Given the description of an element on the screen output the (x, y) to click on. 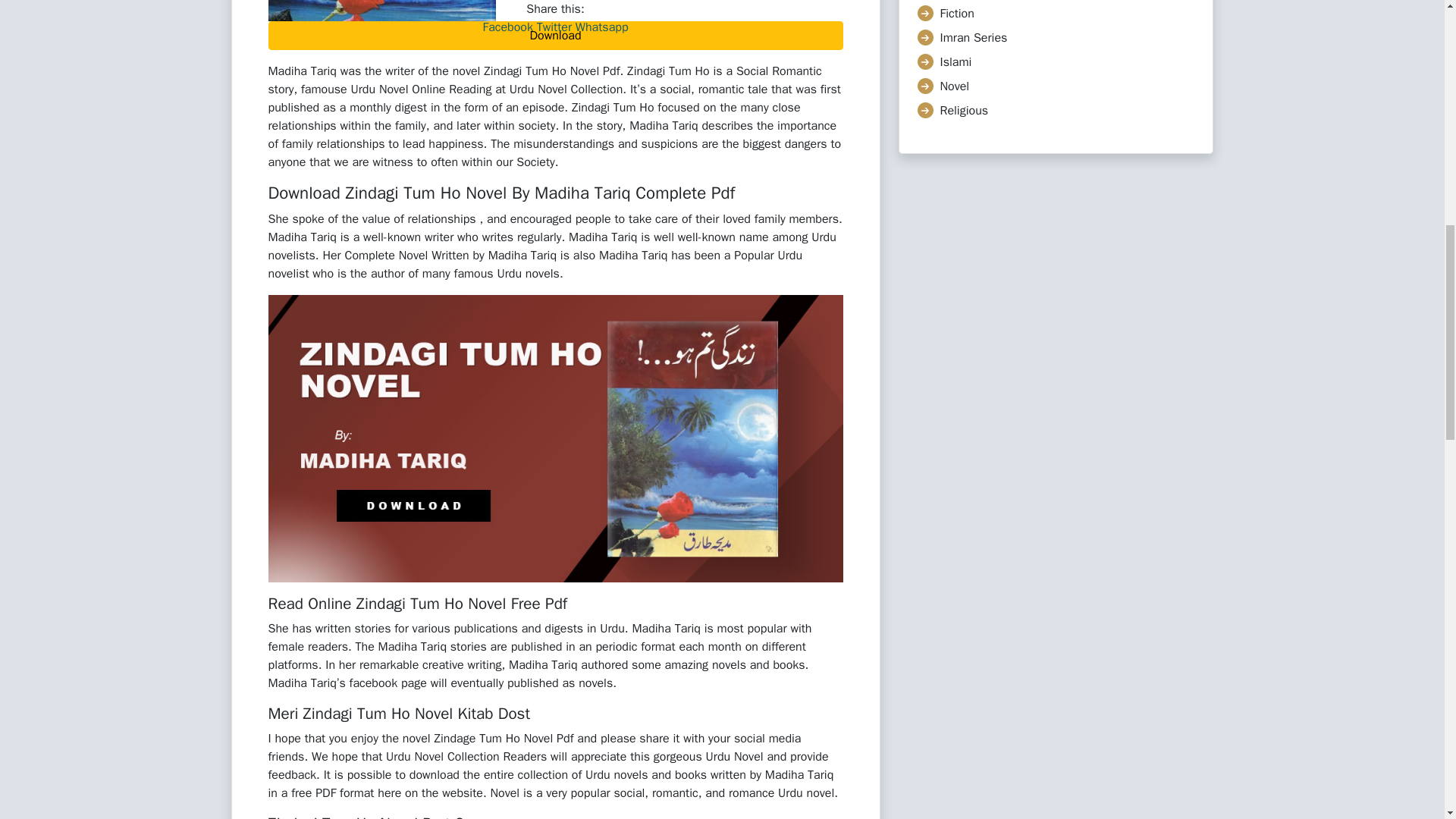
Novel (954, 86)
Islami (956, 61)
Download (555, 35)
Religious (964, 110)
Imran Series (973, 37)
Fiction (957, 13)
